Given the description of an element on the screen output the (x, y) to click on. 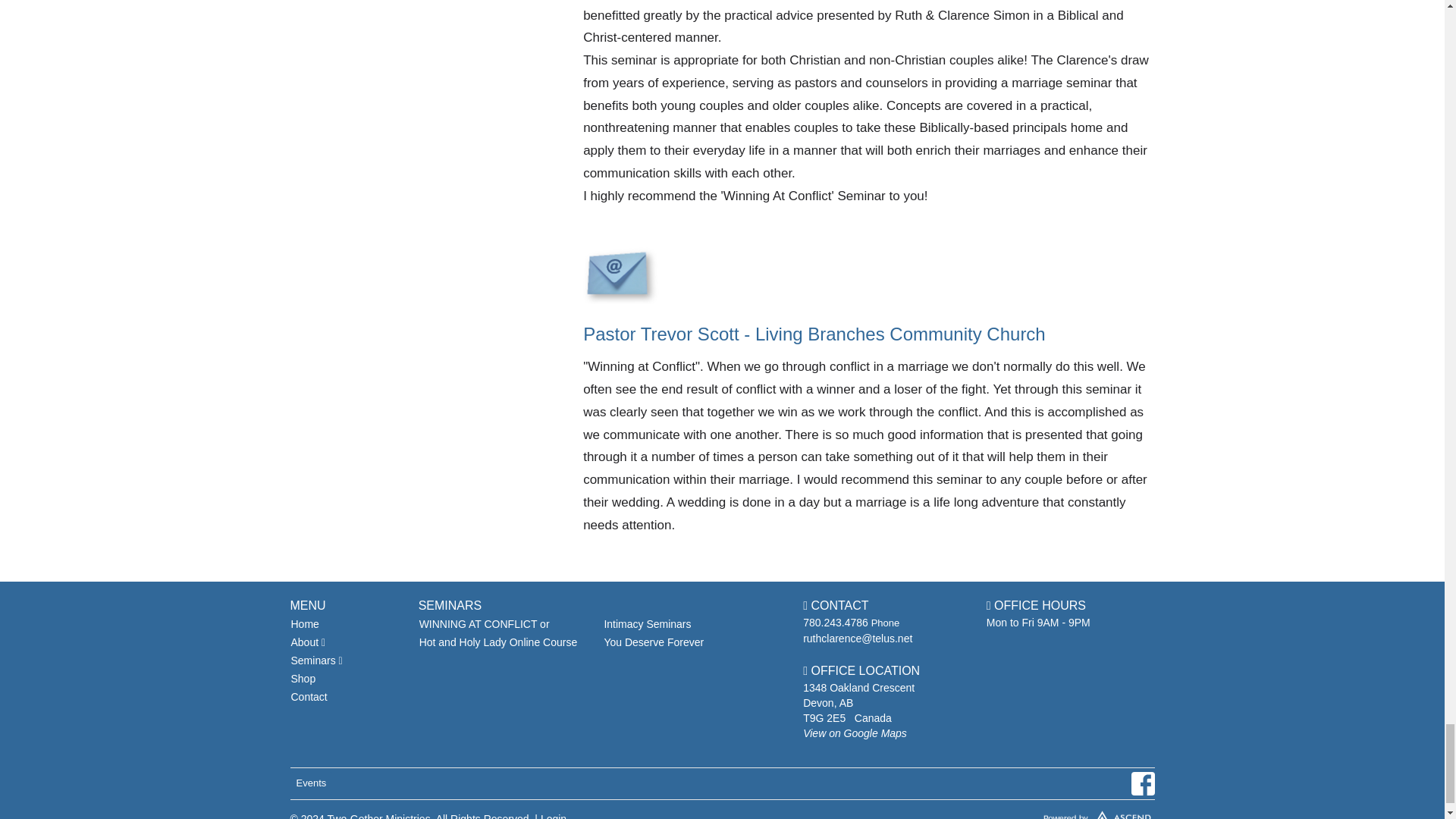
Facebook Icon (1142, 783)
Seminars (346, 660)
Home (346, 624)
About (346, 642)
